Given the description of an element on the screen output the (x, y) to click on. 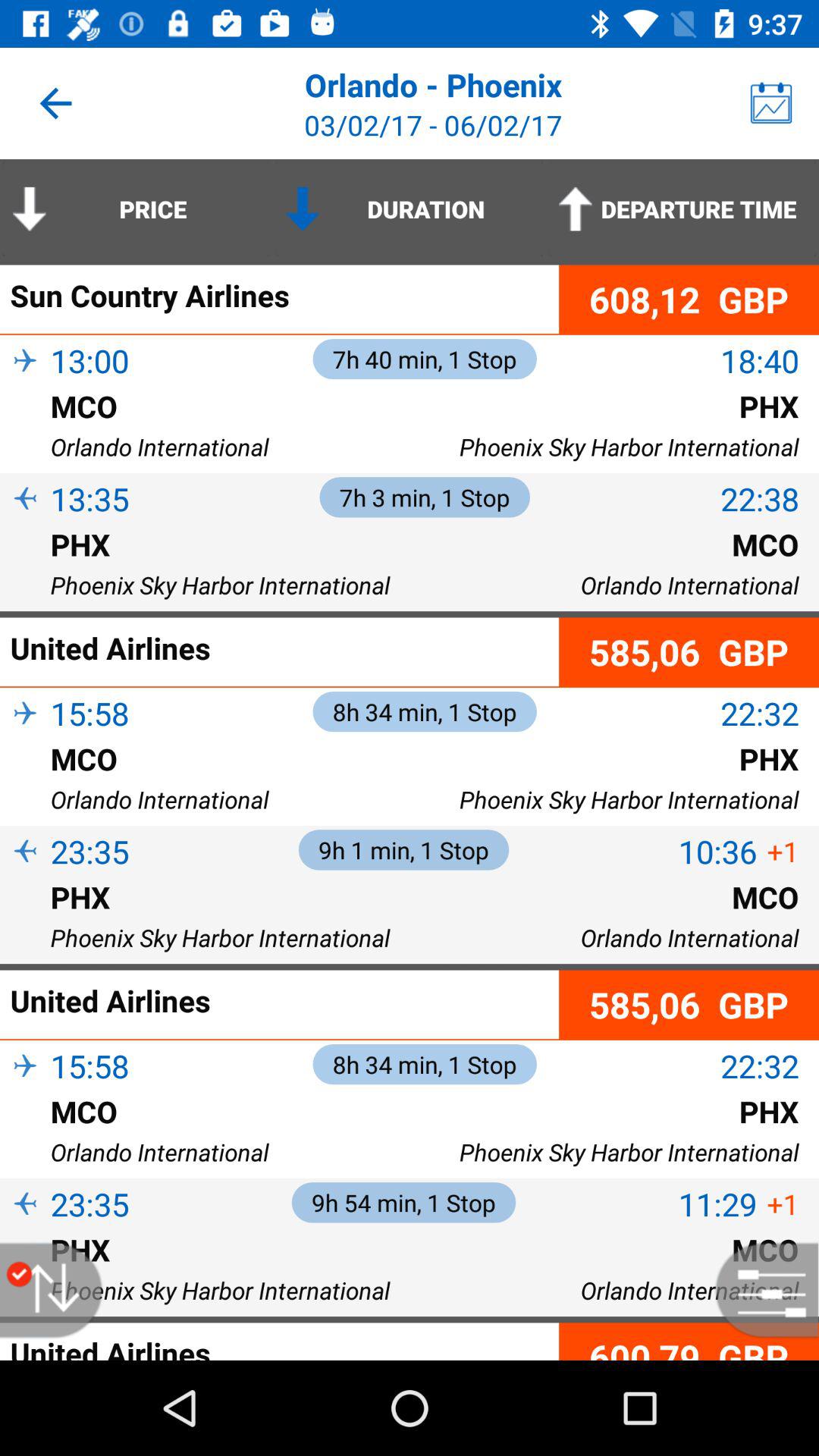
turn off the item below the orlando international item (689, 1341)
